Given the description of an element on the screen output the (x, y) to click on. 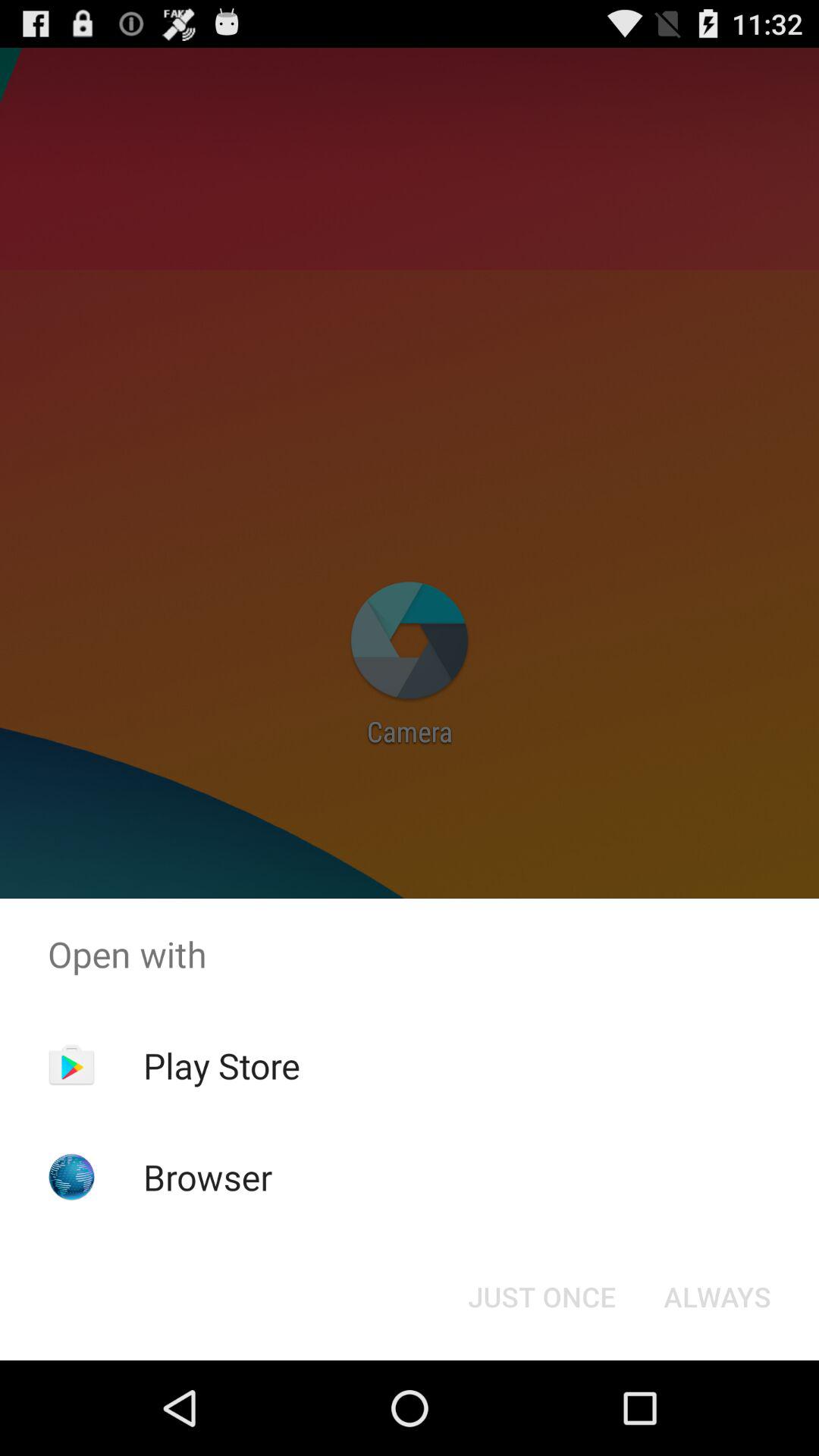
select the item next to always button (541, 1296)
